Given the description of an element on the screen output the (x, y) to click on. 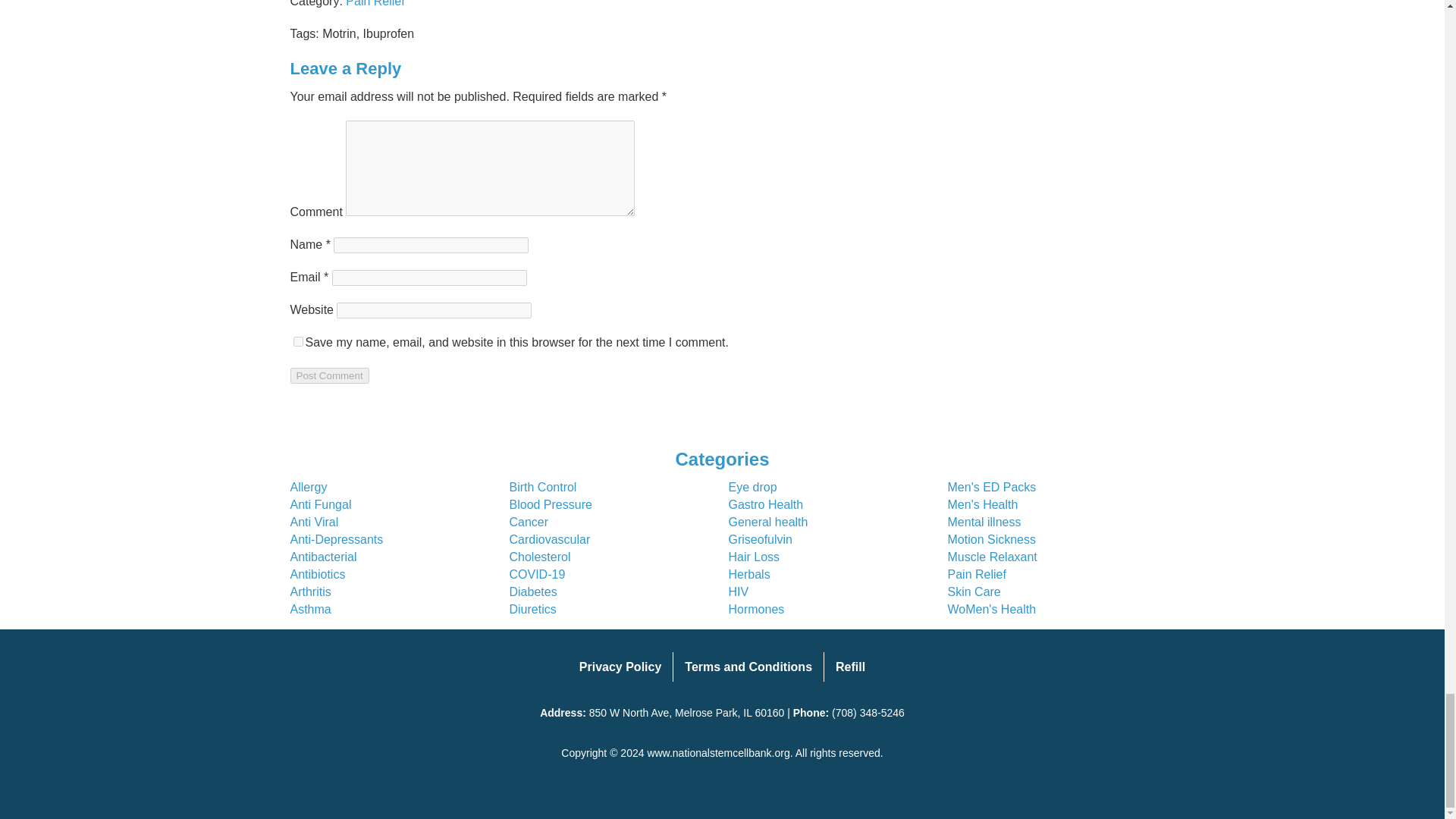
yes (297, 341)
Asthma (309, 608)
Allergy (307, 486)
Antibiotics (317, 574)
Post Comment (328, 375)
Antibacterial (322, 556)
Anti-Depressants (335, 539)
Post Comment (328, 375)
Arthritis (309, 591)
Birth Control (542, 486)
Anti Viral (313, 521)
Anti Fungal (319, 504)
Pain Relief (375, 3)
